Given the description of an element on the screen output the (x, y) to click on. 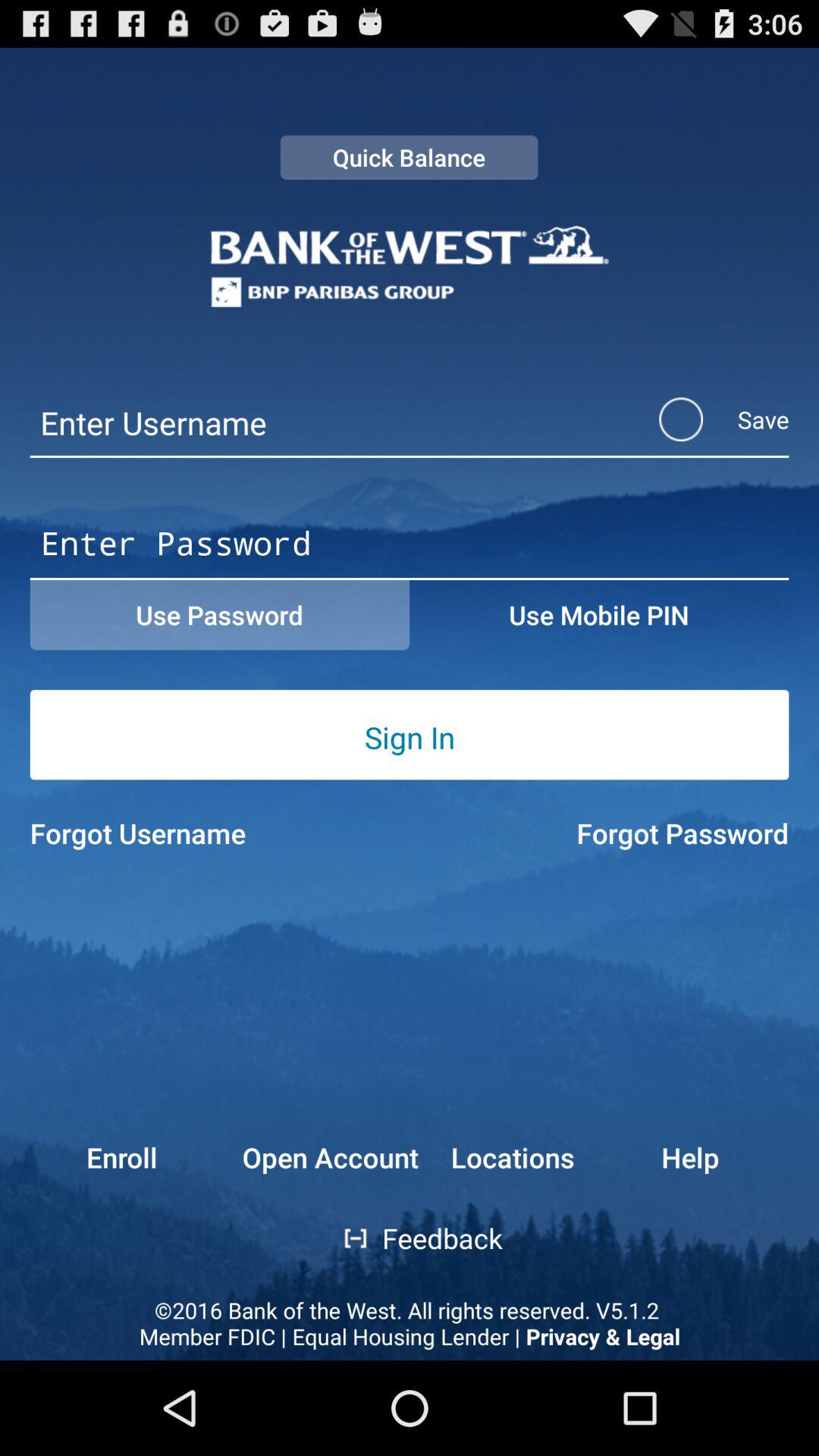
scroll until the save item (703, 419)
